Given the description of an element on the screen output the (x, y) to click on. 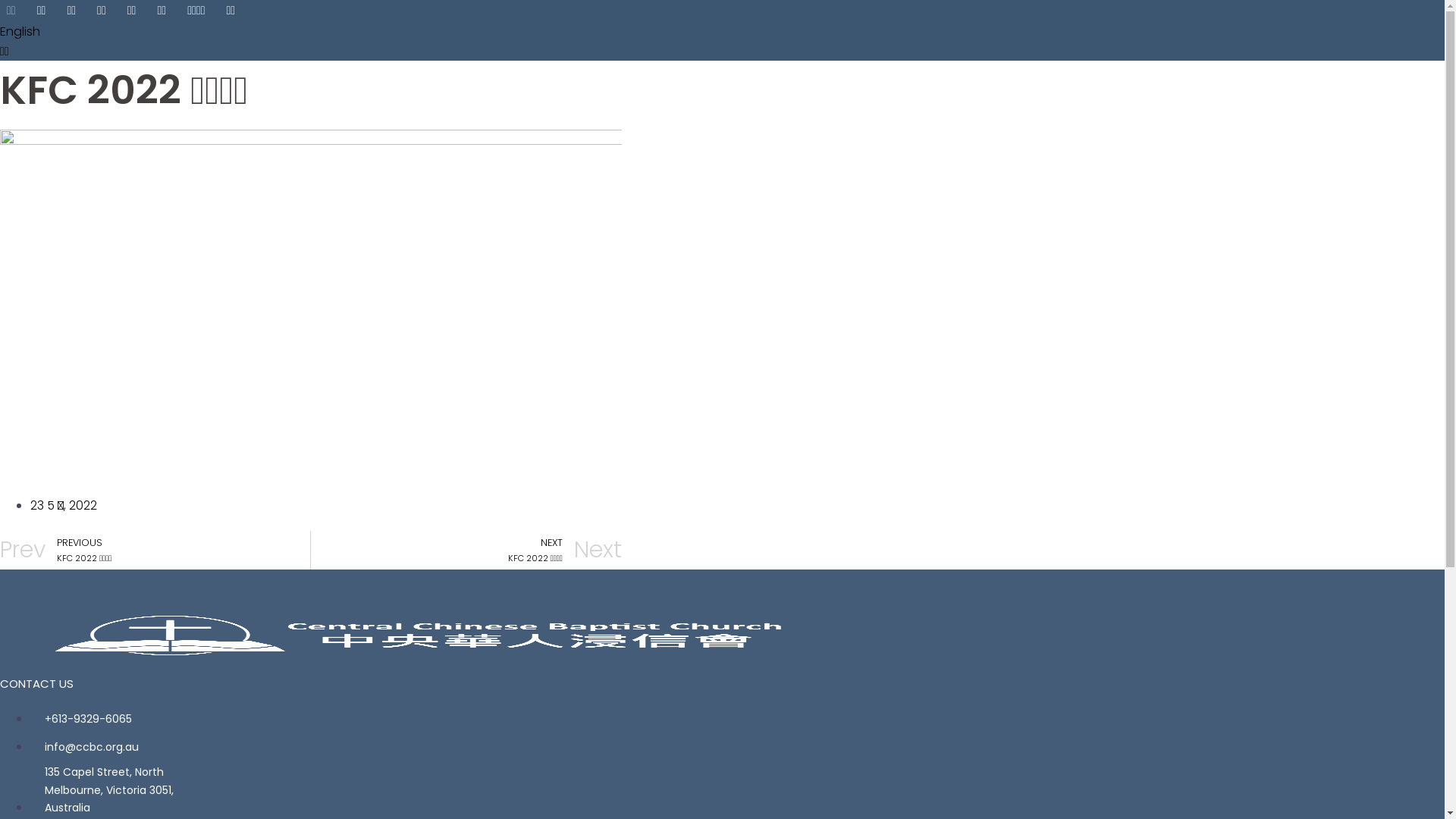
English Element type: text (20, 30)
